Given the description of an element on the screen output the (x, y) to click on. 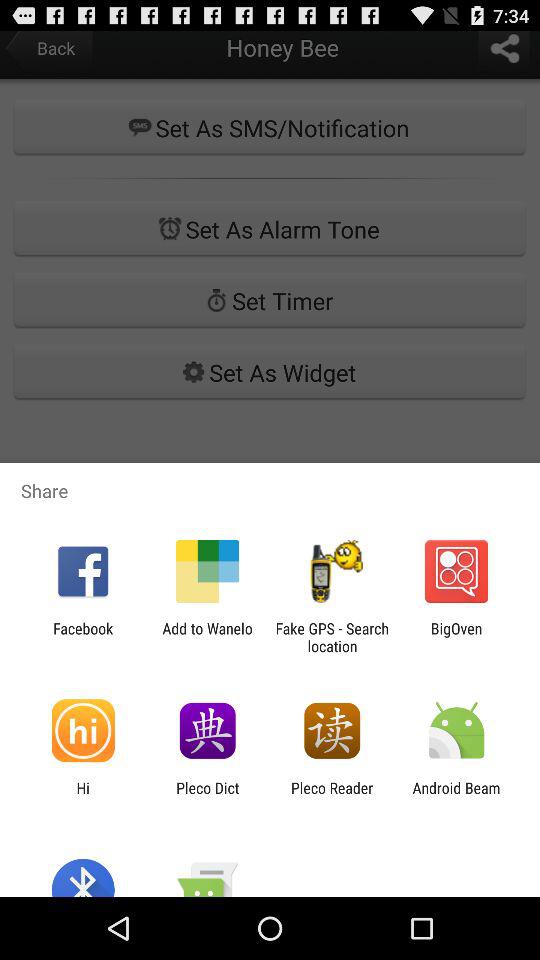
launch pleco reader (331, 796)
